Given the description of an element on the screen output the (x, y) to click on. 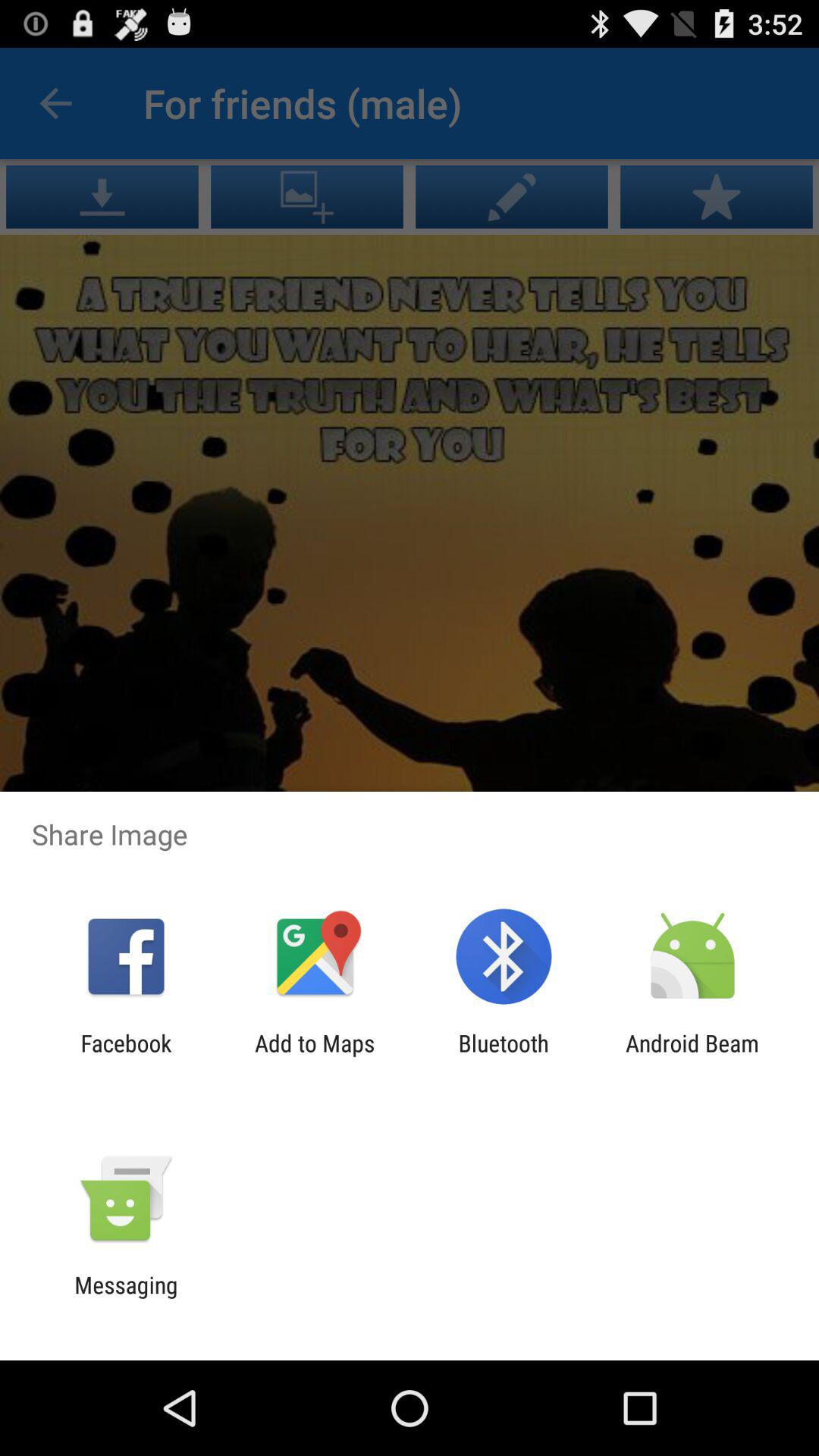
click the item to the right of bluetooth icon (692, 1056)
